Given the description of an element on the screen output the (x, y) to click on. 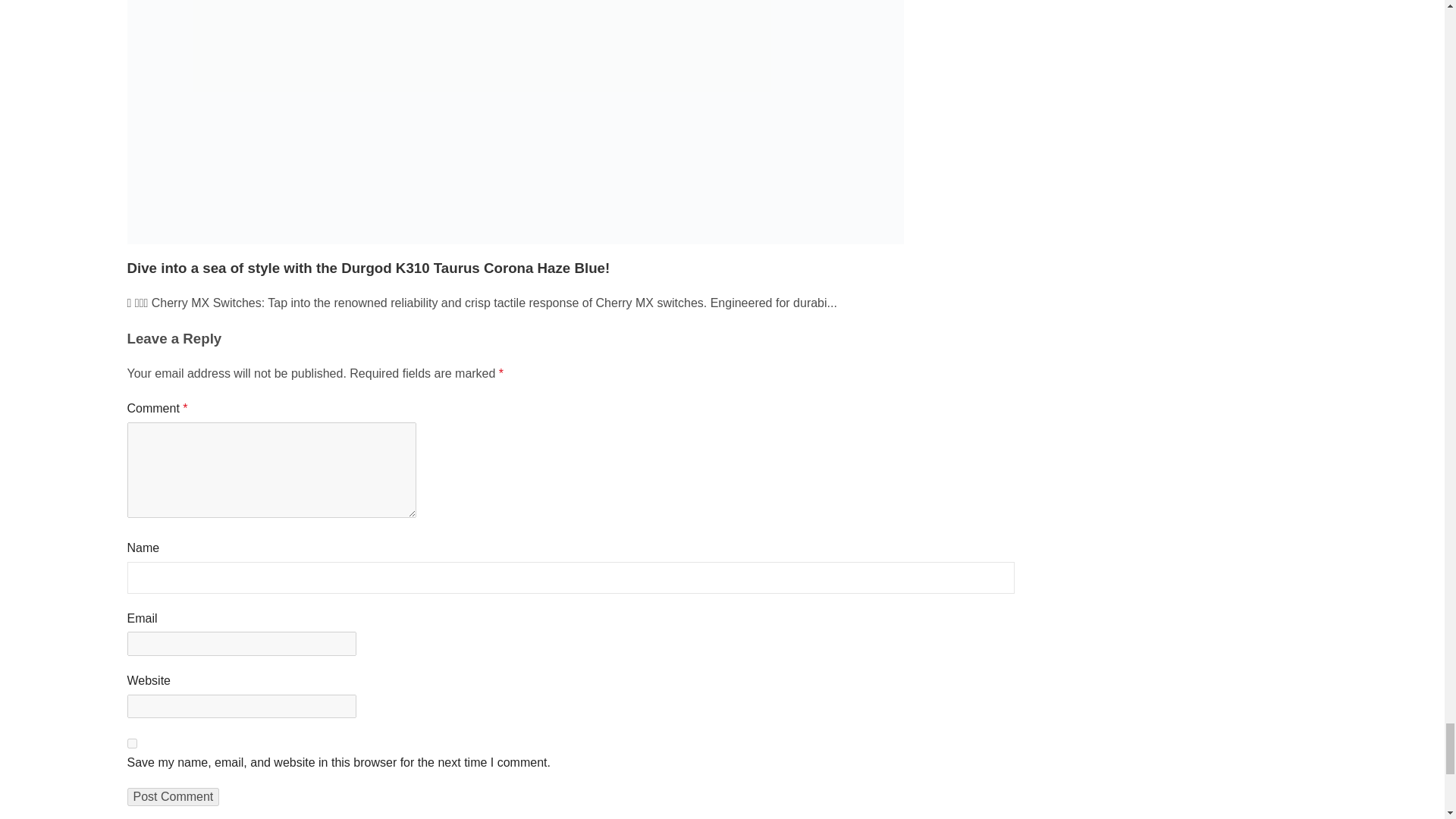
Post Comment (173, 796)
yes (132, 743)
